Given the description of an element on the screen output the (x, y) to click on. 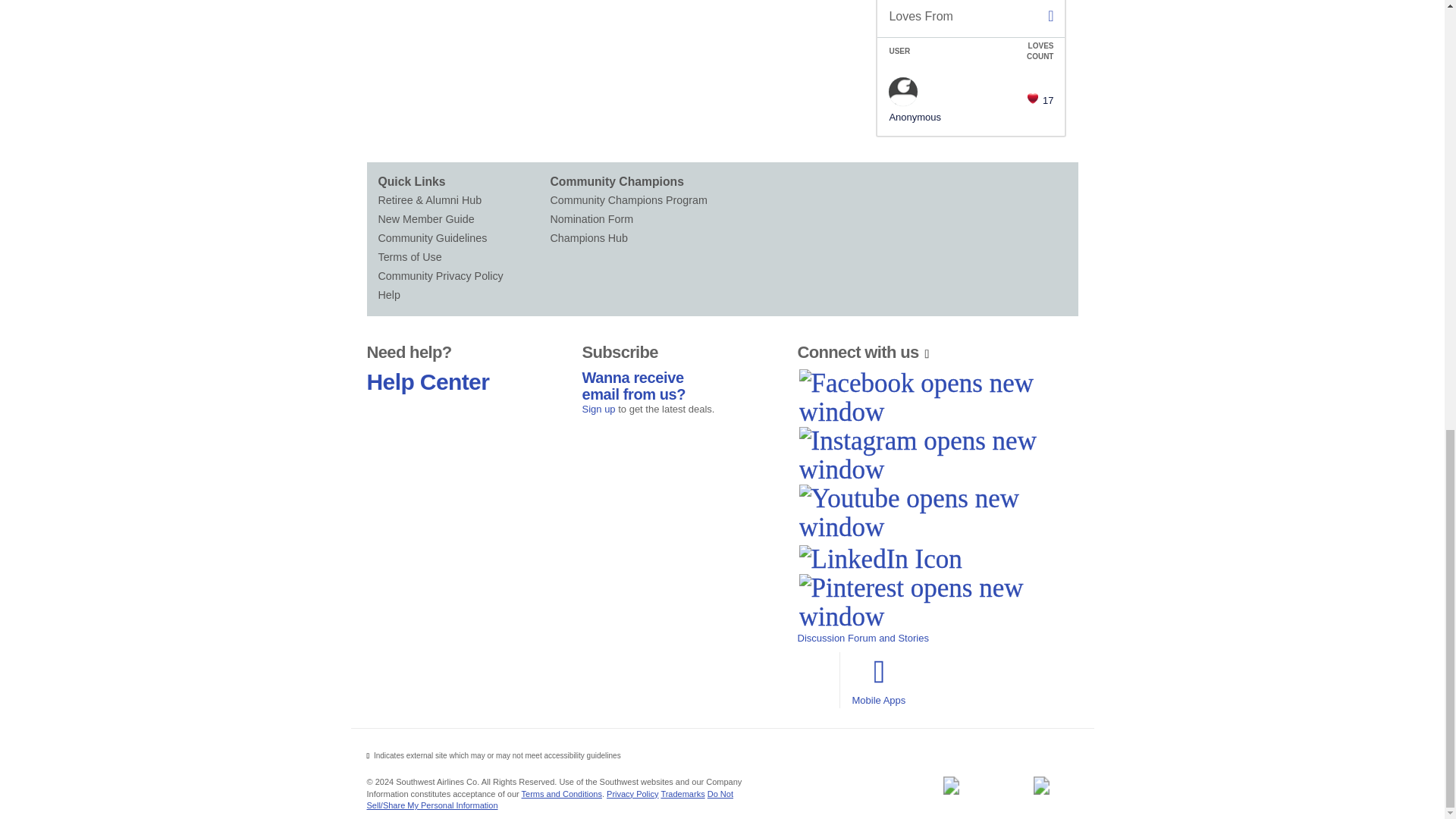
Southwest Business logo and link (950, 785)
Southwest Cargo logo and link (1041, 785)
